Given the description of an element on the screen output the (x, y) to click on. 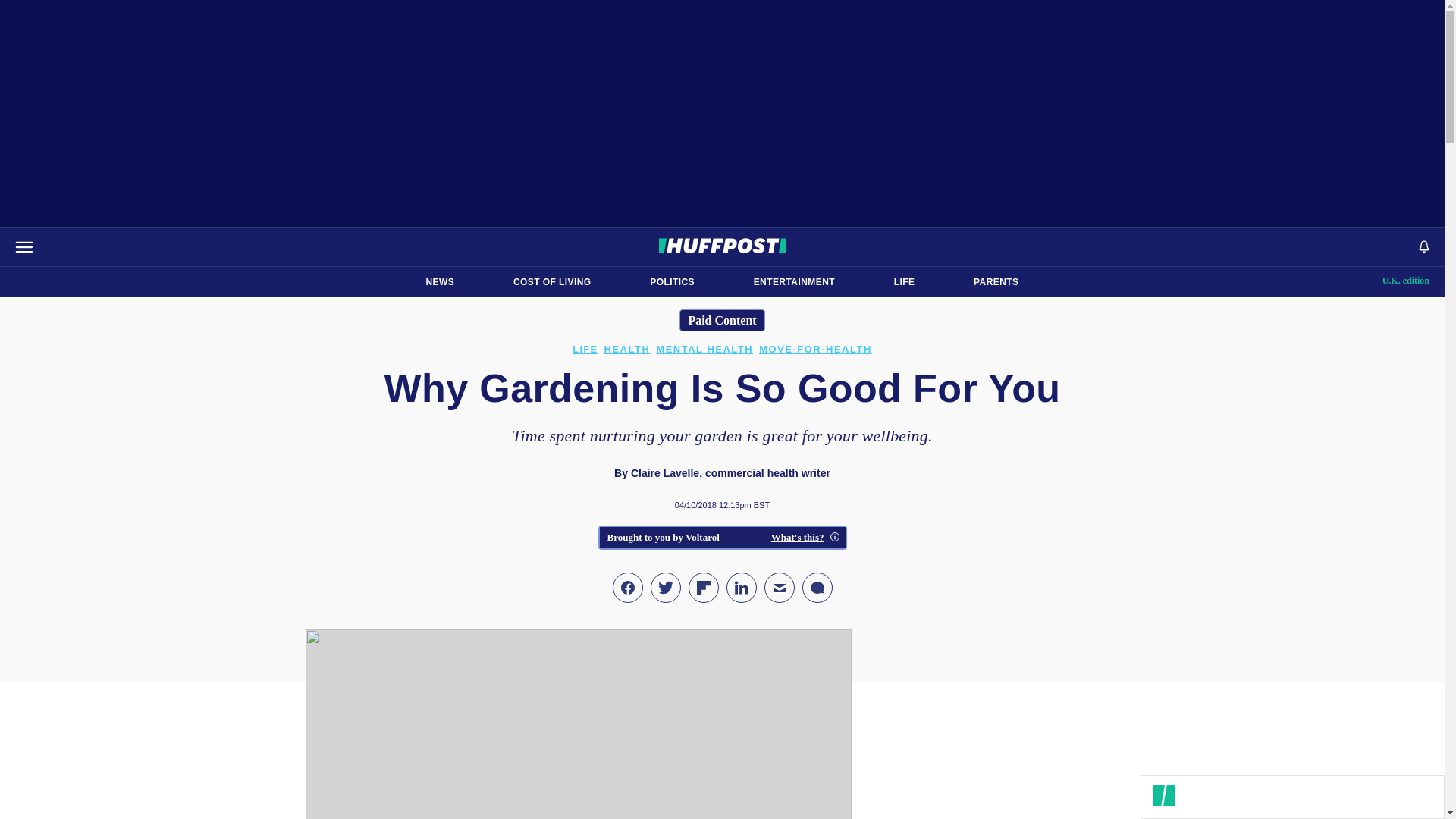
COST OF LIVING (1405, 281)
ENTERTAINMENT (552, 281)
PARENTS (794, 281)
POLITICS (995, 281)
NEWS (671, 281)
LIFE (440, 281)
